Given the description of an element on the screen output the (x, y) to click on. 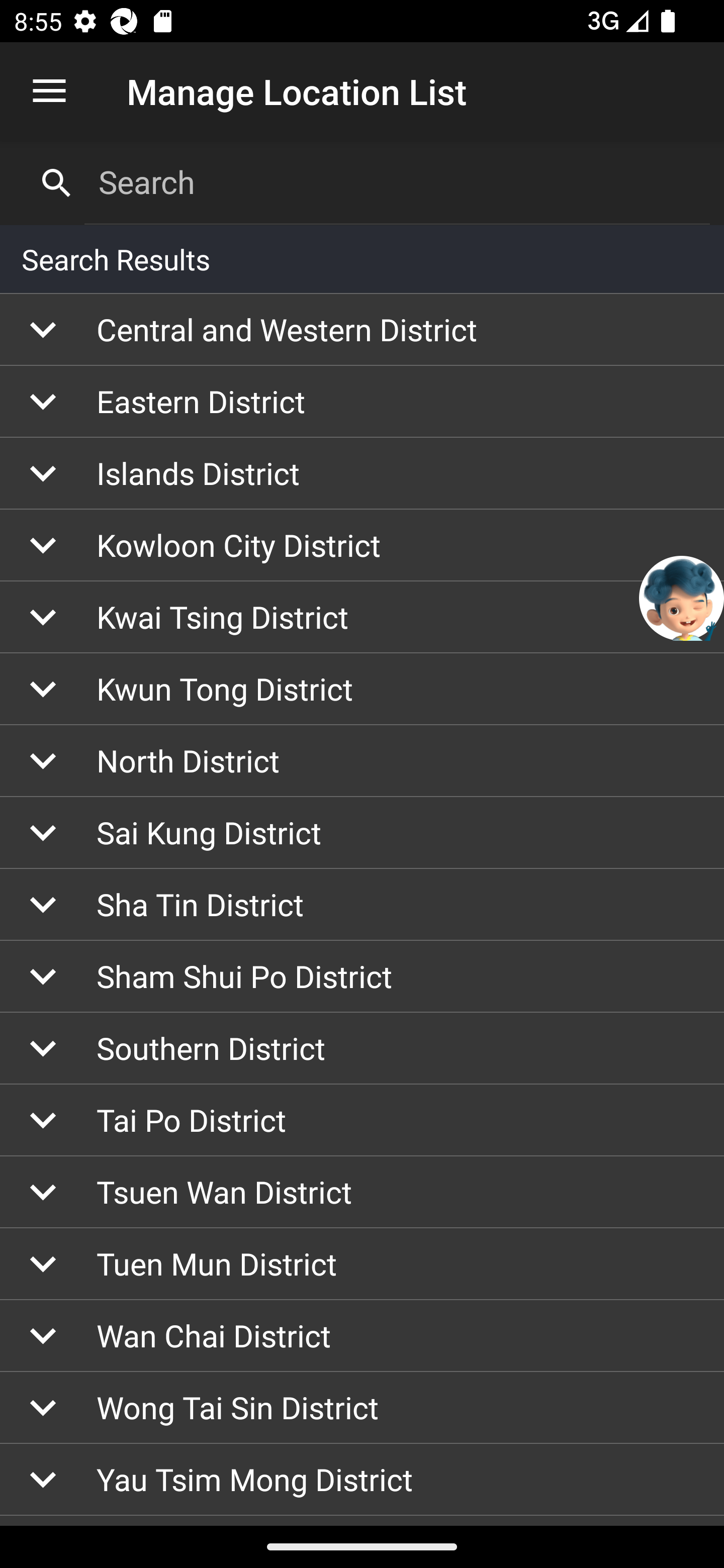
Navigate up (49, 91)
Search (397, 181)
Expand Central and Western District (362, 329)
Expand Eastern District (362, 401)
Expand Islands District (362, 473)
Expand Kowloon City District (362, 545)
Chatbot (681, 598)
Expand Kwai Tsing District (362, 617)
Expand Kwun Tong District (362, 688)
Expand North District (362, 760)
Expand Sai Kung District (362, 832)
Expand Sha Tin District (362, 904)
Expand Sham Shui Po District (362, 976)
Expand Southern District (362, 1048)
Expand Tai Po District (362, 1121)
Expand Tsuen Wan District (362, 1192)
Expand Tuen Mun District (362, 1263)
Expand Wan Chai District (362, 1335)
Expand Wong Tai Sin District (362, 1408)
Expand Yau Tsim Mong District (362, 1480)
